Given the description of an element on the screen output the (x, y) to click on. 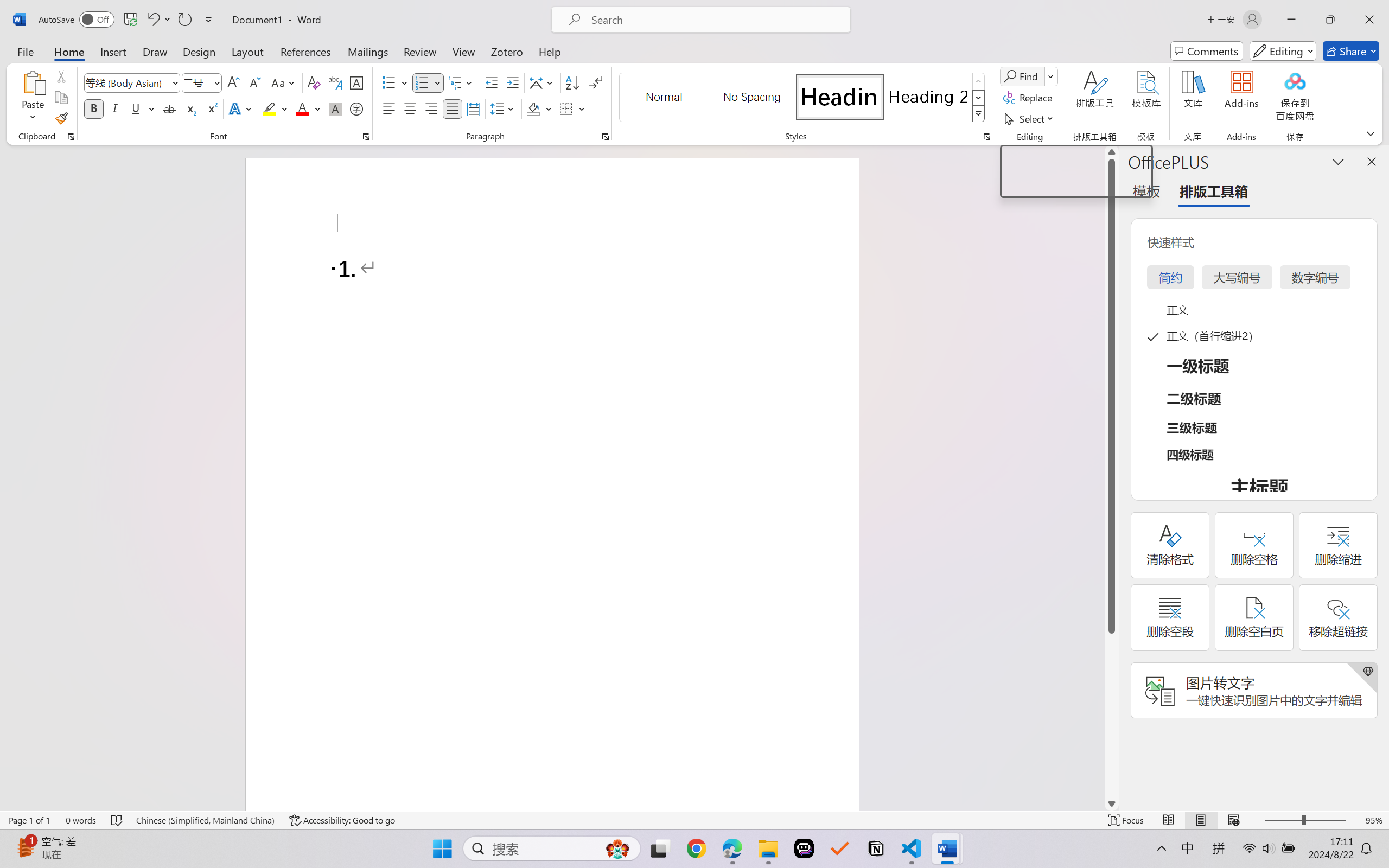
Class: MsoCommandBar (694, 819)
